Given the description of an element on the screen output the (x, y) to click on. 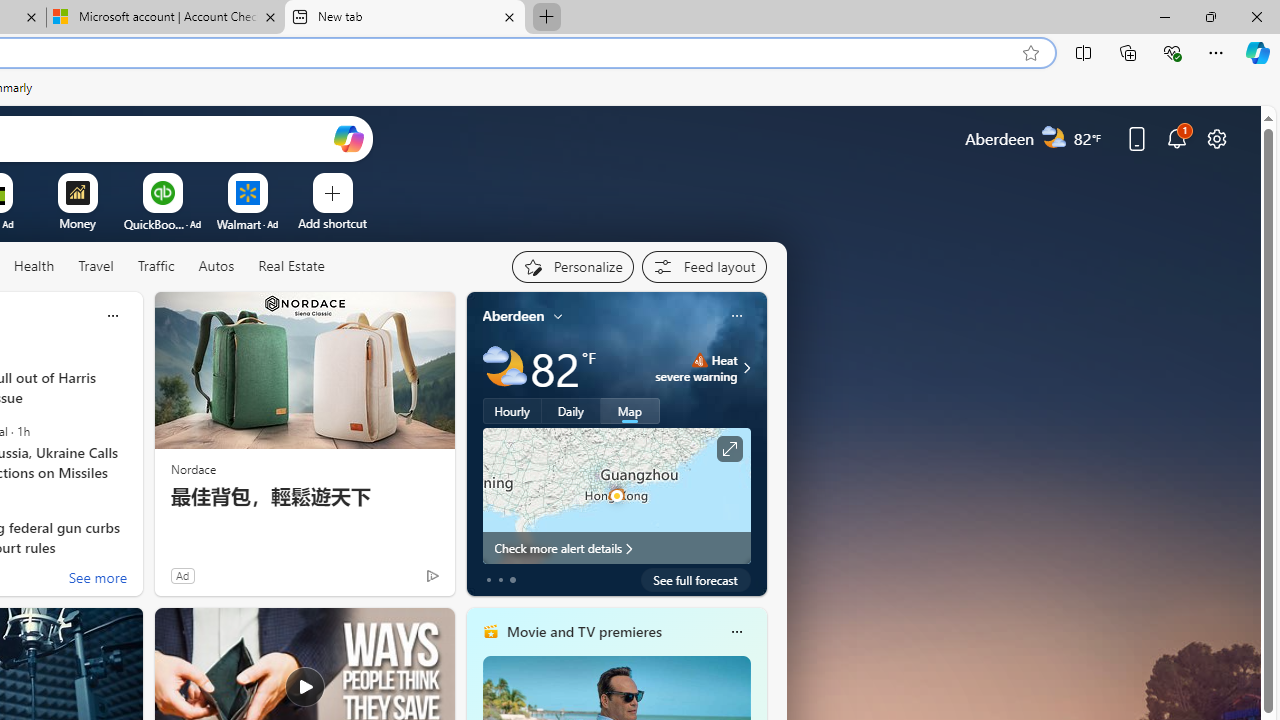
Partly cloudy (504, 368)
Add a site (332, 223)
tab-0 (488, 579)
Aberdeen (513, 315)
Page settings (1216, 138)
Class: icon-img (736, 632)
Daily (571, 411)
Open Copilot (347, 138)
Class: weather-arrow-glyph (746, 367)
See full forecast (695, 579)
My location (558, 315)
